Given the description of an element on the screen output the (x, y) to click on. 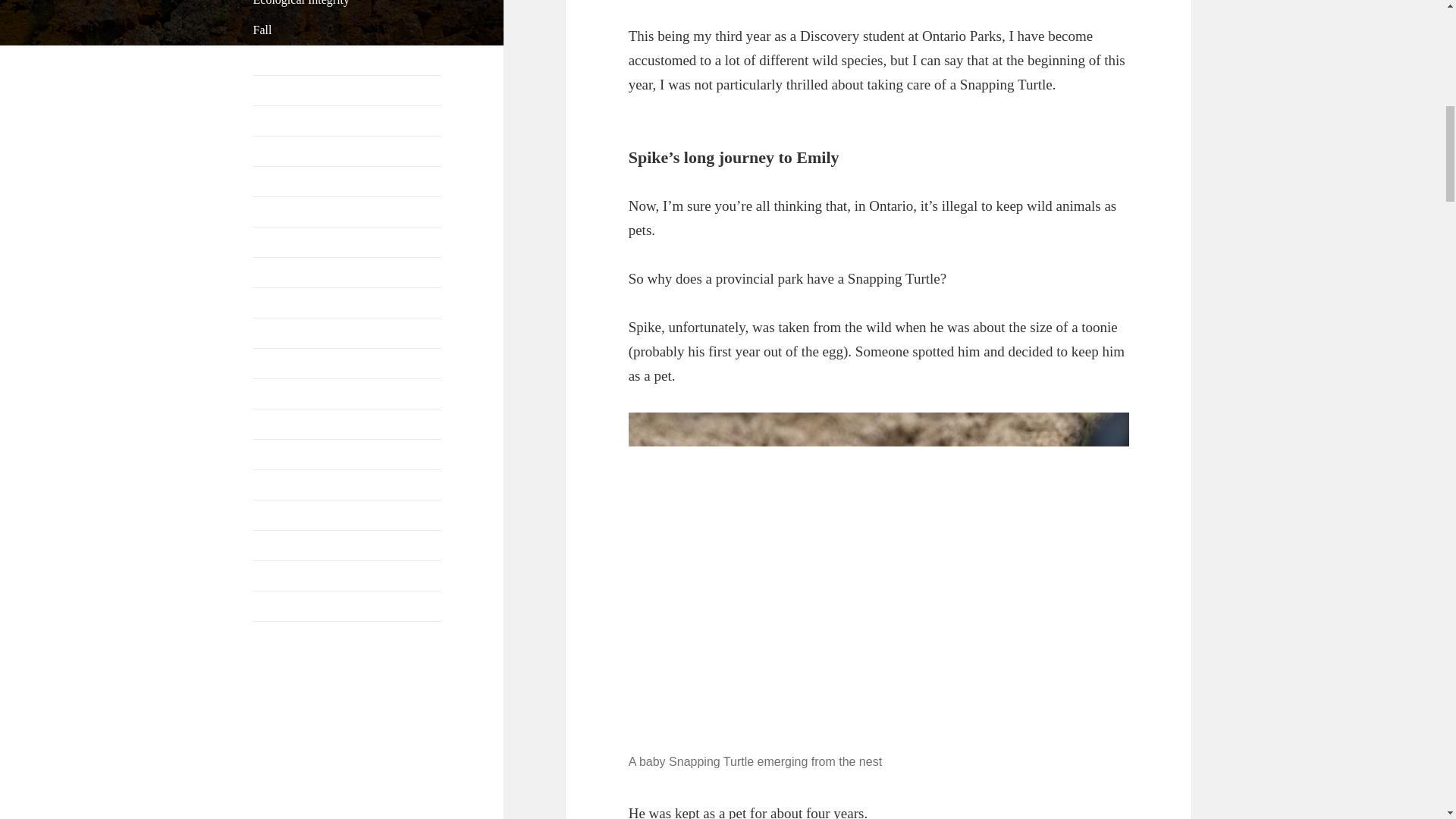
Photography (284, 423)
Fall (262, 29)
Nature Knowledge (299, 211)
First Time Visitors (298, 60)
Vacancy Reports (293, 605)
RV (261, 484)
Ecological Integrity (301, 2)
Fishing (271, 90)
Spring (269, 545)
Park Products (286, 363)
